Given the description of an element on the screen output the (x, y) to click on. 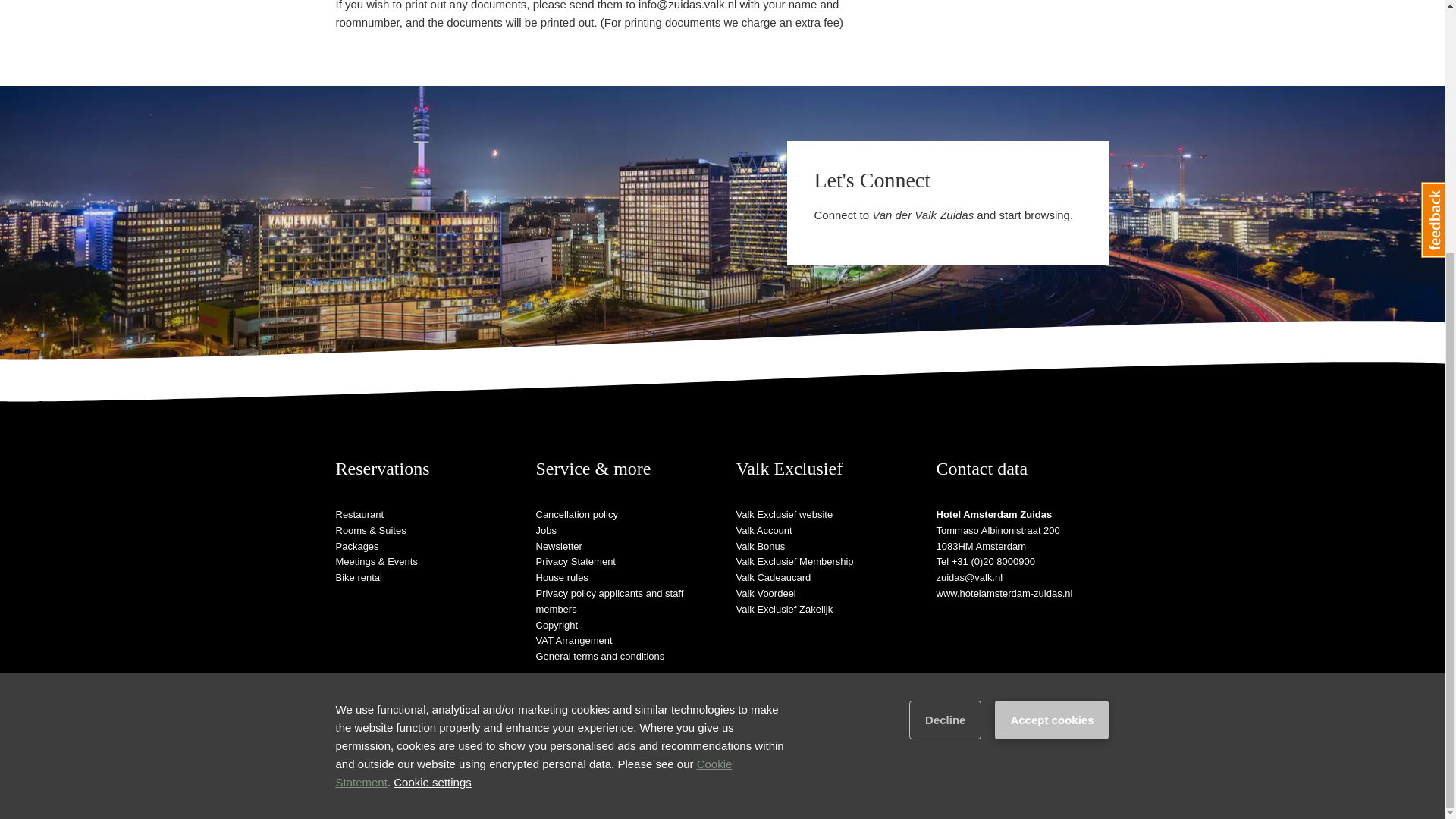
Cookie settings (432, 424)
Decline (944, 362)
Accept cookies (1051, 362)
Cookie Statement (533, 415)
